Given the description of an element on the screen output the (x, y) to click on. 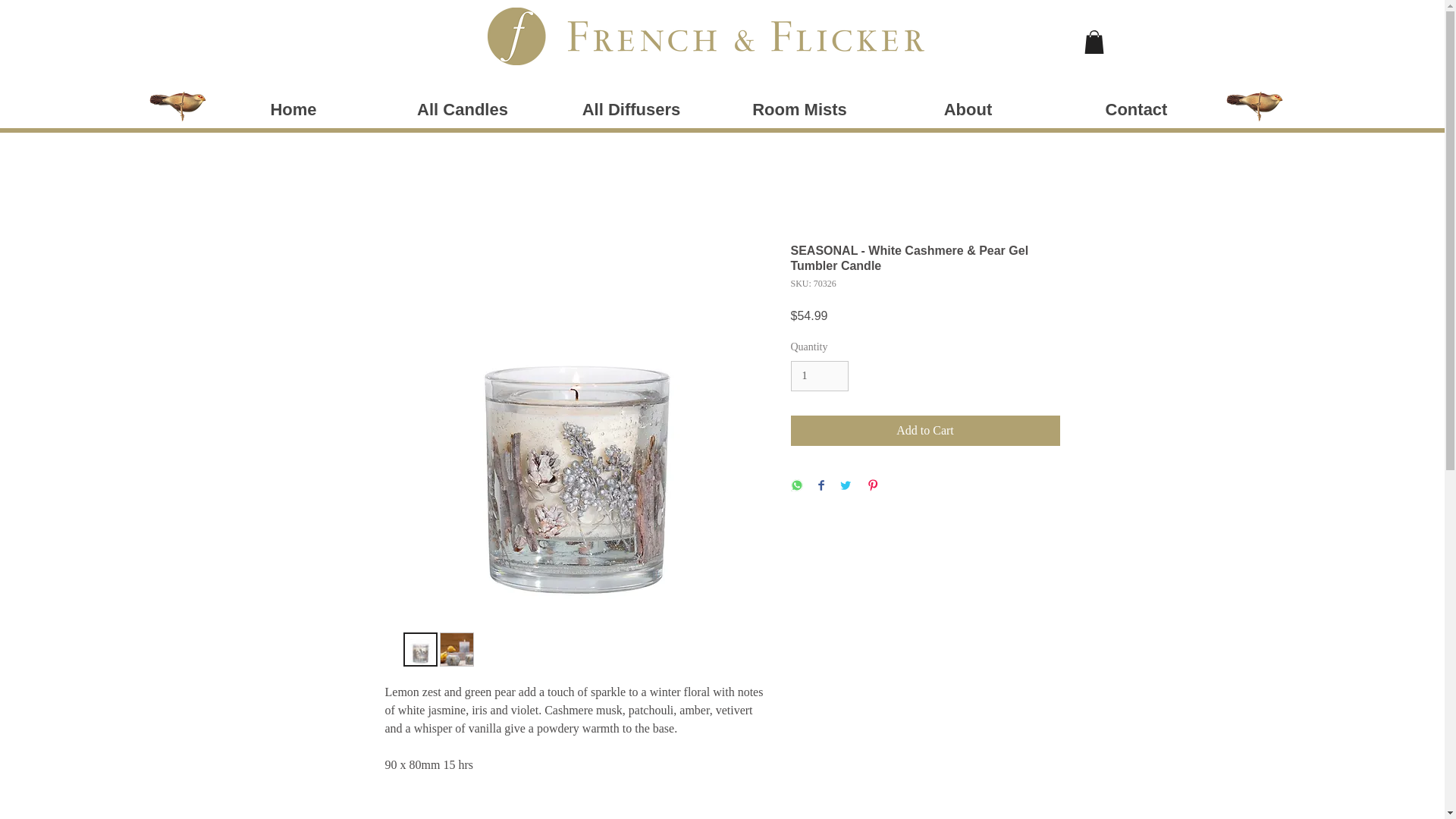
About (967, 109)
Add to Cart (924, 430)
Room Mists (799, 109)
1 (818, 376)
All Candles (462, 109)
Contact (1136, 109)
Home (293, 109)
All Diffusers (631, 109)
